Given the description of an element on the screen output the (x, y) to click on. 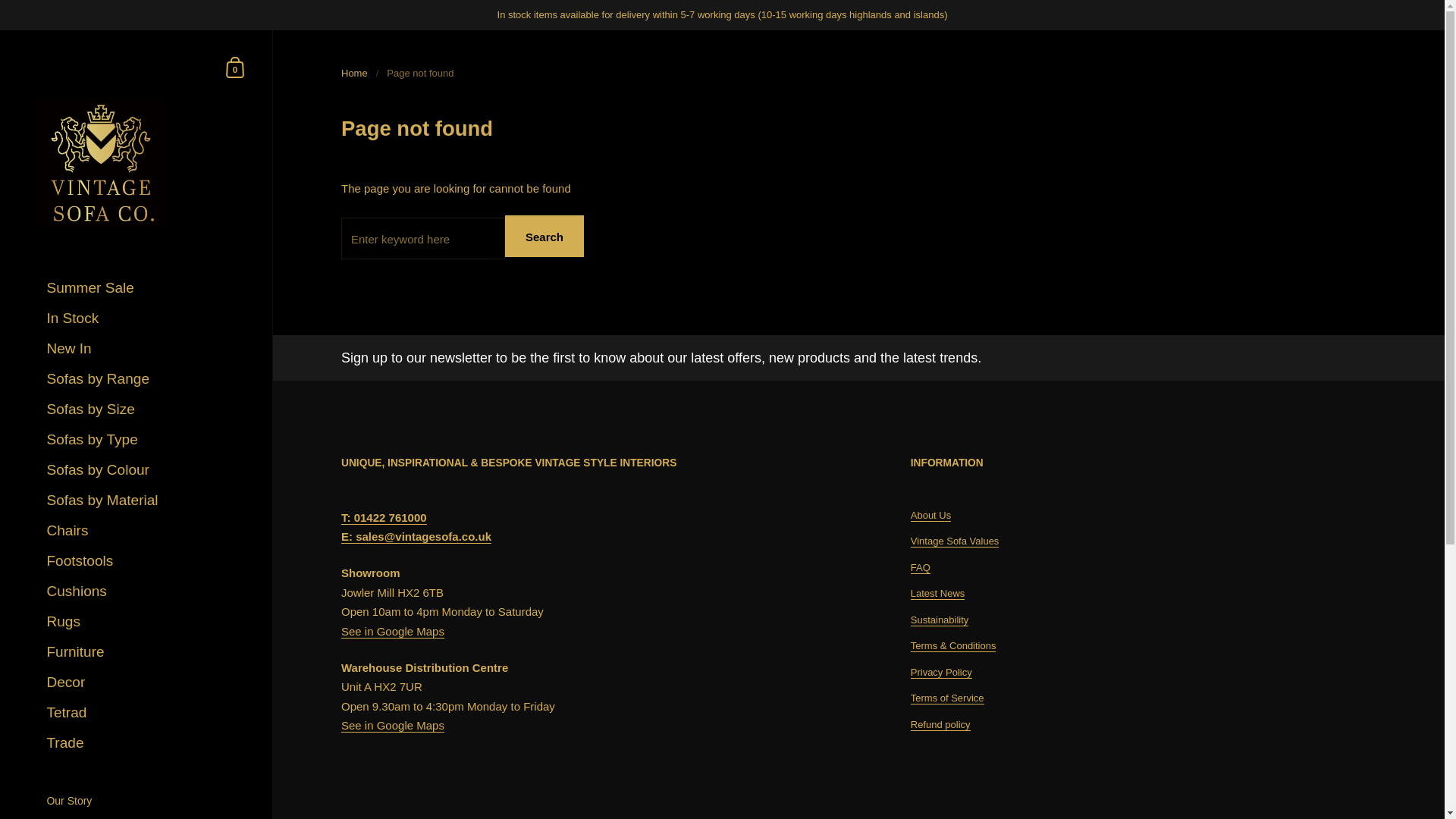
Shopping Cart (235, 66)
Rugs (141, 621)
Furniture (141, 652)
Trade (141, 743)
Sofas by Size (141, 409)
Visit our Showroom (141, 816)
Footstools (141, 561)
Sofas by Type (141, 440)
Tetrad (141, 712)
tel: 01422 761000 (383, 517)
